Given the description of an element on the screen output the (x, y) to click on. 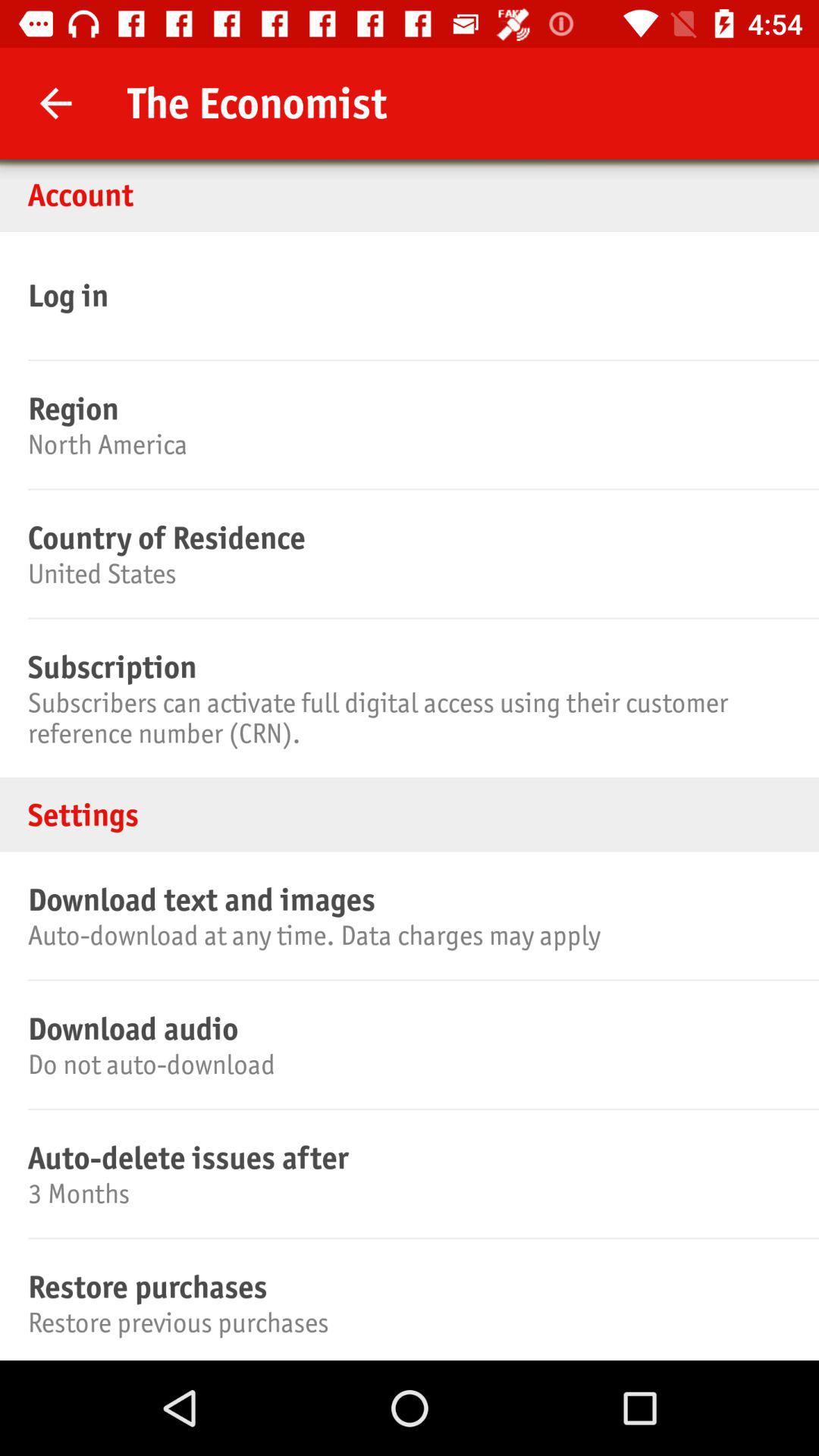
swipe until the account (409, 194)
